Given the description of an element on the screen output the (x, y) to click on. 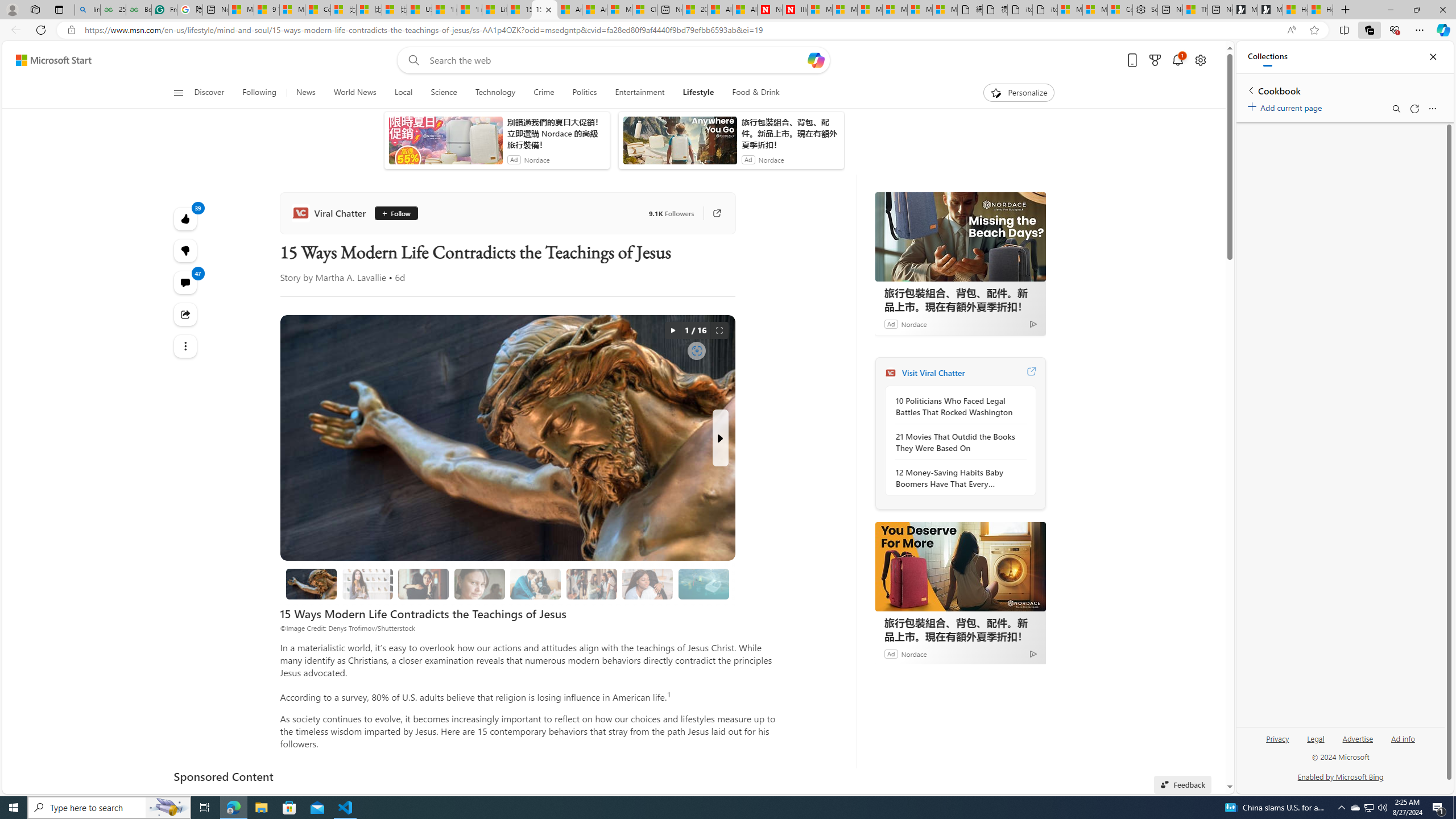
Skip to footer (46, 59)
Workspaces (34, 9)
Food & Drink (756, 92)
Microsoft Start (241, 9)
Food & Drink (751, 92)
News (305, 92)
Technology (494, 92)
Go to publisher's site (716, 213)
See more (184, 345)
Collections (1267, 56)
2. Lack of Support & Encouragement (535, 583)
Open navigation menu (177, 92)
Ad info (1402, 742)
